Given the description of an element on the screen output the (x, y) to click on. 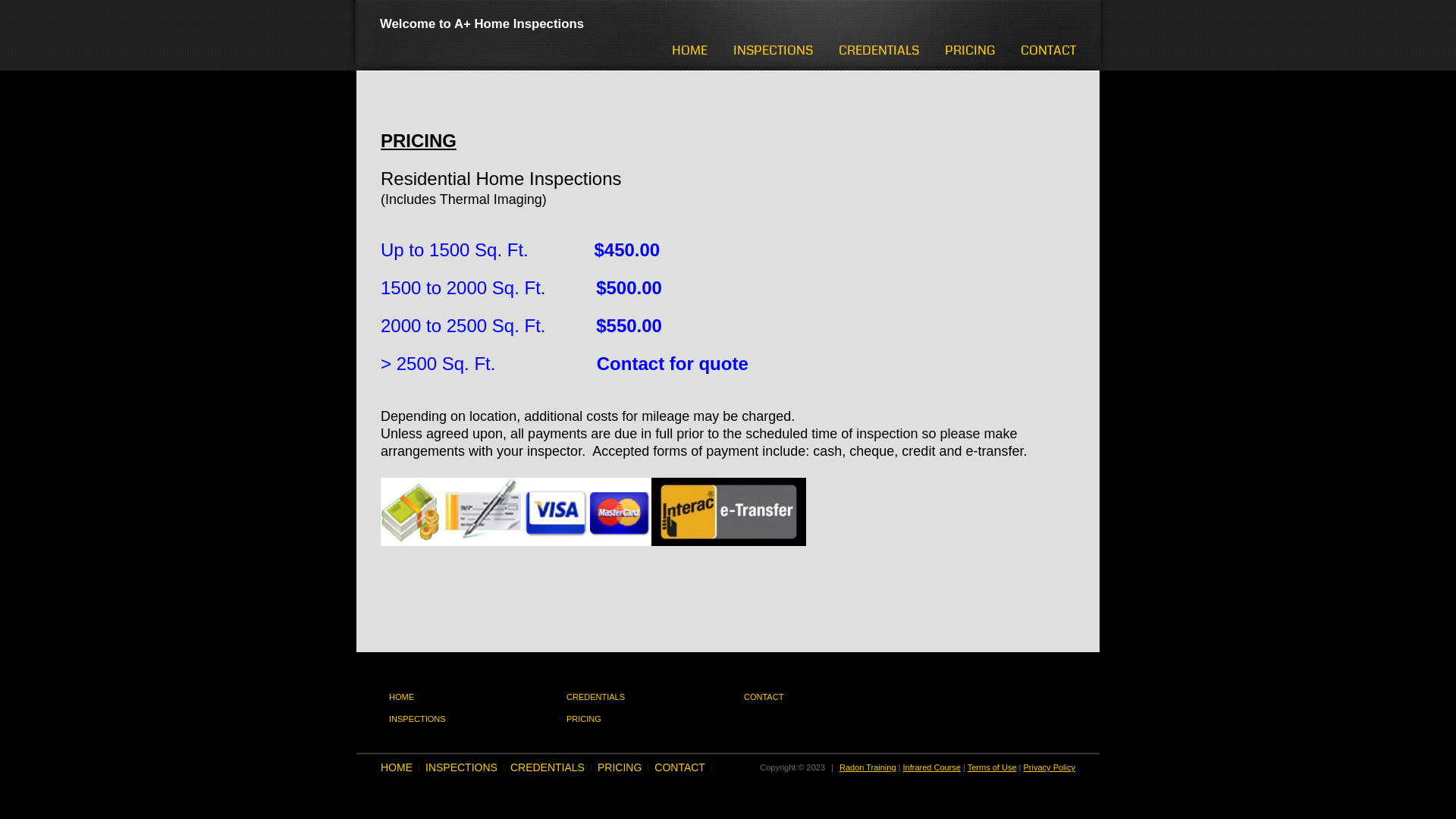
HOME Element type: text (396, 767)
Radon Training Element type: text (867, 766)
Privacy Policy Element type: text (1049, 766)
PRICING Element type: text (619, 767)
CREDENTIALS Element type: text (878, 49)
PRICING Element type: text (583, 718)
CONTACT Element type: text (1048, 49)
HOME Element type: text (401, 696)
INSPECTIONS Element type: text (461, 767)
CONTACT Element type: text (679, 767)
INSPECTIONS Element type: text (772, 49)
Terms of Use Element type: text (991, 766)
CONTACT Element type: text (763, 696)
HOME Element type: text (689, 49)
CREDENTIALS Element type: text (595, 696)
CREDENTIALS Element type: text (547, 767)
INSPECTIONS Element type: text (417, 718)
Infrared Course Element type: text (931, 766)
PRICING Element type: text (969, 49)
